Given the description of an element on the screen output the (x, y) to click on. 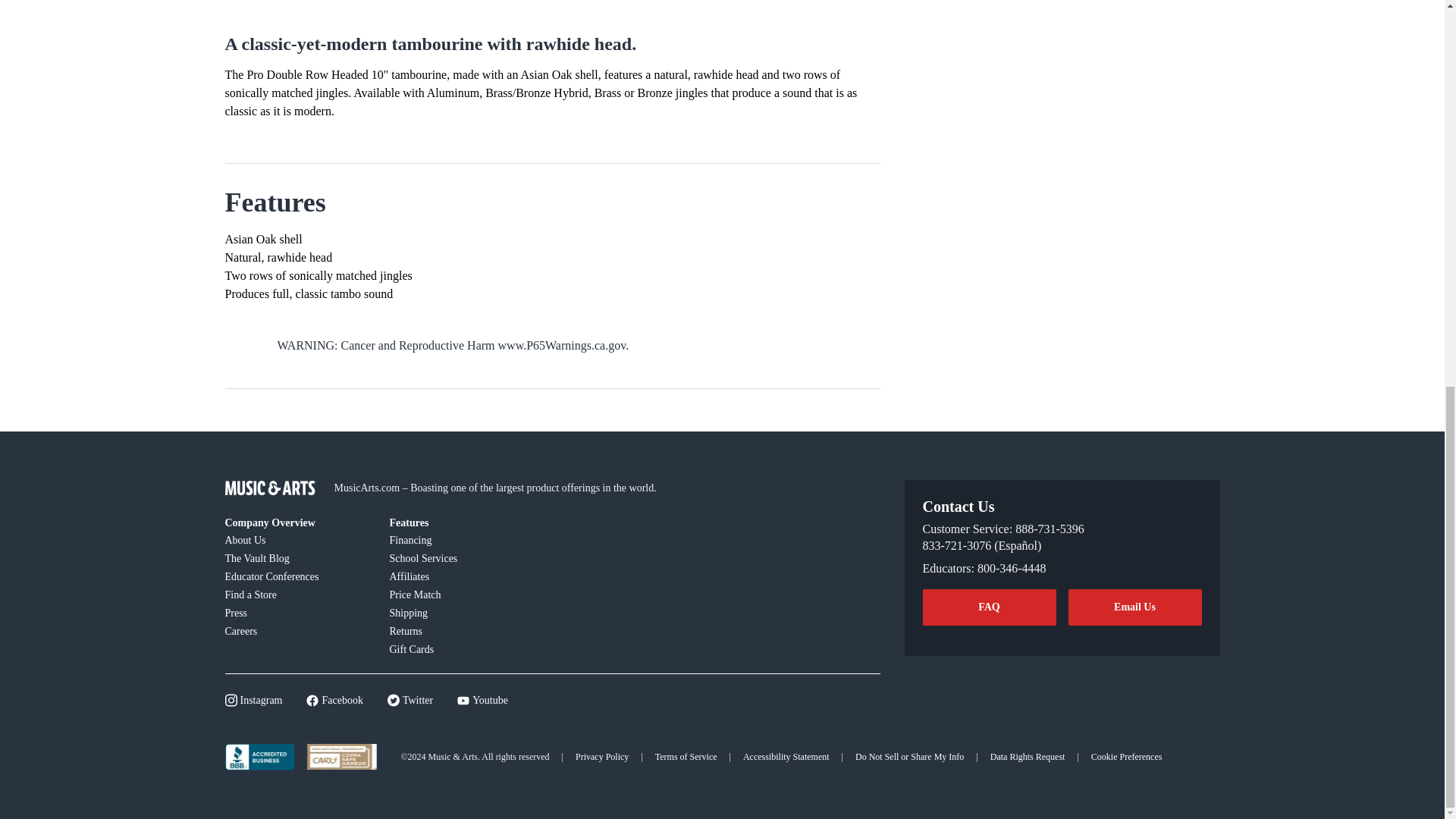
Price Match (462, 594)
Affiliates (462, 576)
The Vault Blog (297, 557)
Educator Conferences (297, 576)
School Services (462, 557)
Careers (297, 630)
About Us (297, 539)
Financing (462, 539)
Find a Store (297, 594)
Press (297, 612)
